Given the description of an element on the screen output the (x, y) to click on. 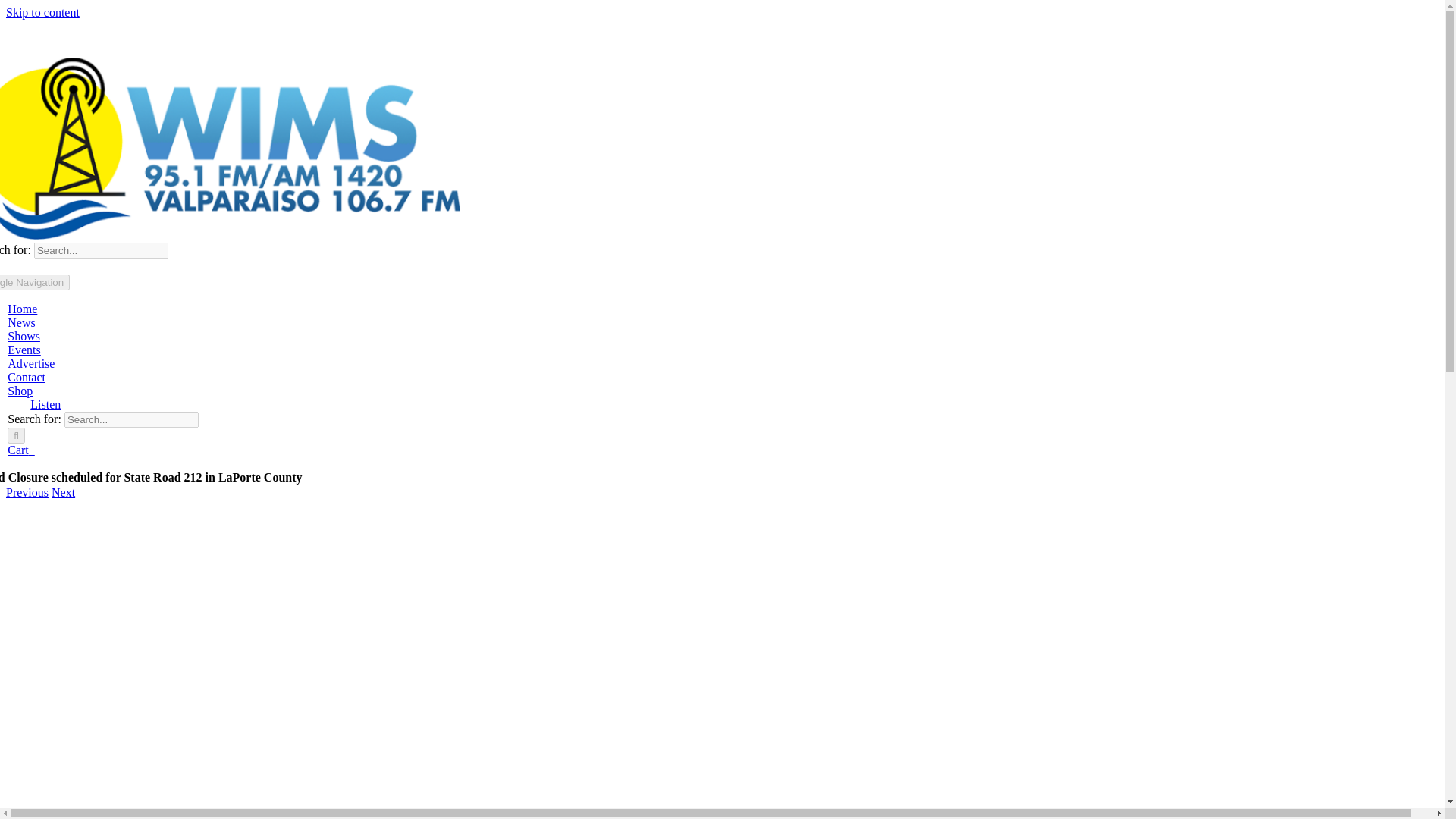
Skip to content (42, 11)
Cart0 (20, 449)
News (20, 322)
Shows (23, 336)
Shop (19, 390)
Listen (44, 404)
Previous (26, 492)
Toggle Navigation (34, 282)
Road Closure scheduled for State Road 212 in LaPorte County (721, 477)
Next (62, 492)
Contact (26, 377)
Events (23, 349)
Home (22, 308)
Advertise (31, 363)
